Given the description of an element on the screen output the (x, y) to click on. 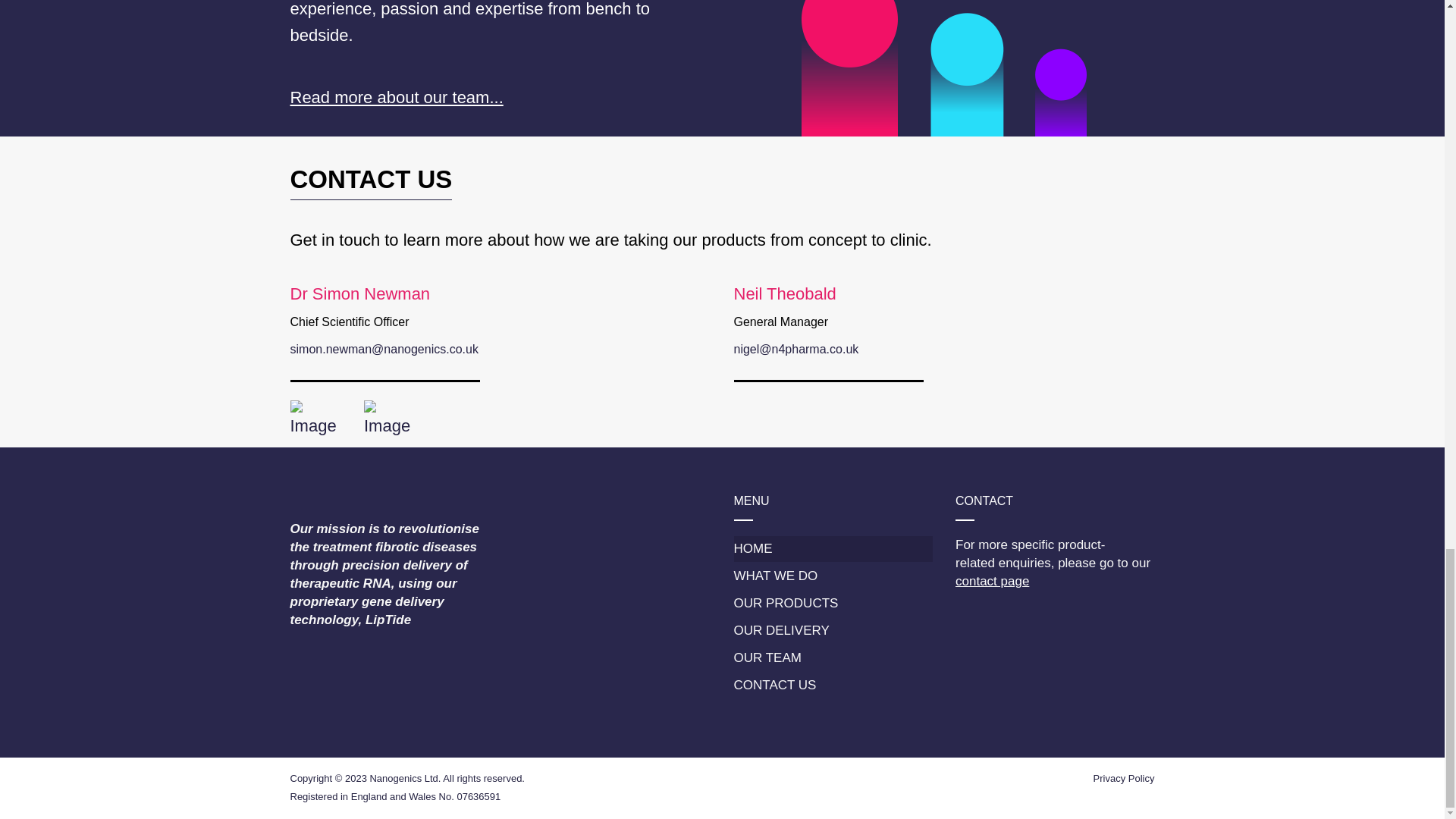
Privacy Policy (1123, 778)
Contact us (992, 581)
OUR DELIVERY (833, 630)
OUR PRODUCTS (833, 603)
OUR TEAM (833, 657)
WHAT WE DO (833, 575)
CONTACT US (833, 685)
contact page (992, 581)
HOME (833, 548)
Read more about our team... (395, 97)
